Given the description of an element on the screen output the (x, y) to click on. 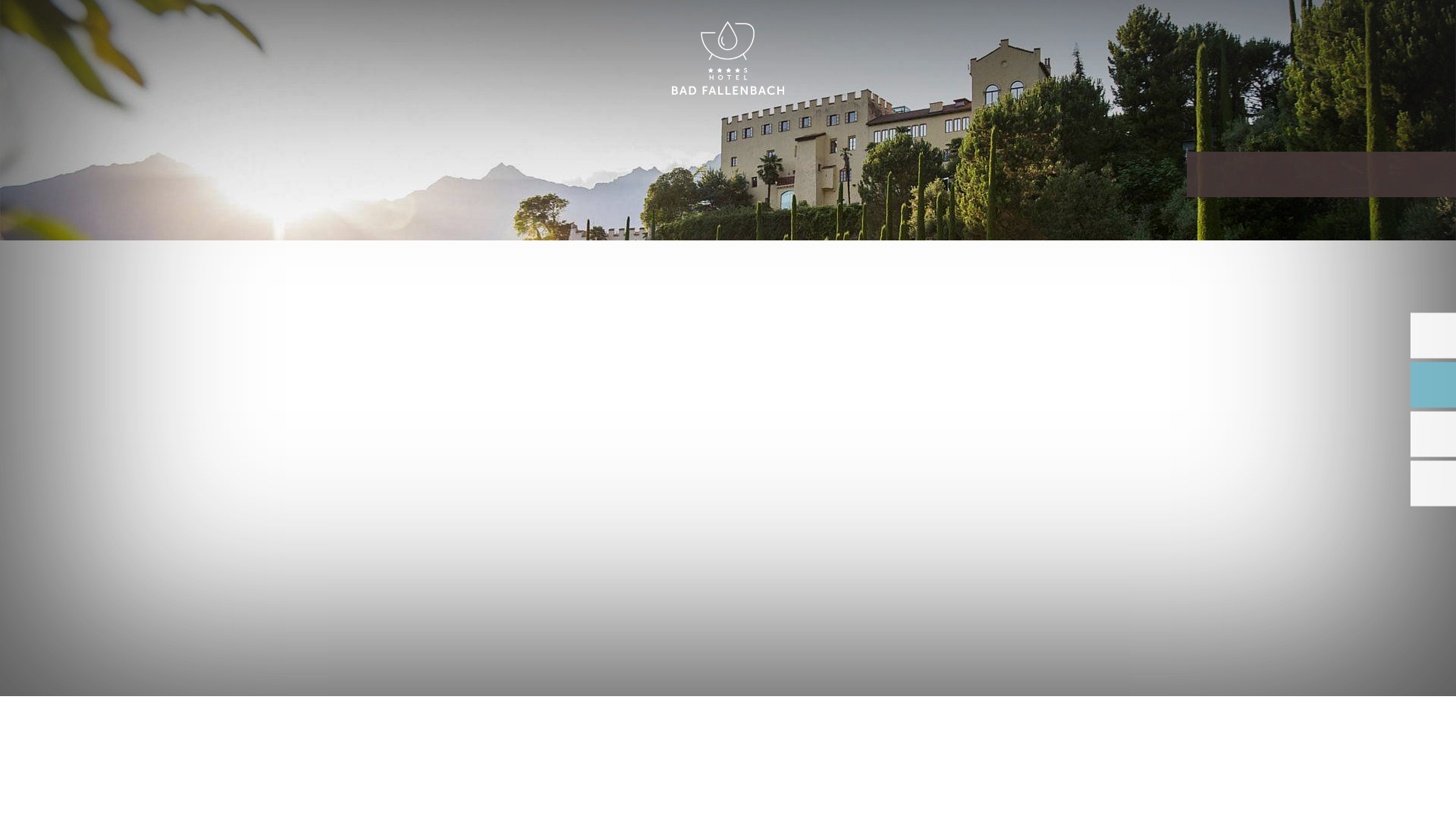
HOTEL BAD FALLENBACH (727, 59)
ENGLISH (1291, 29)
